Given the description of an element on the screen output the (x, y) to click on. 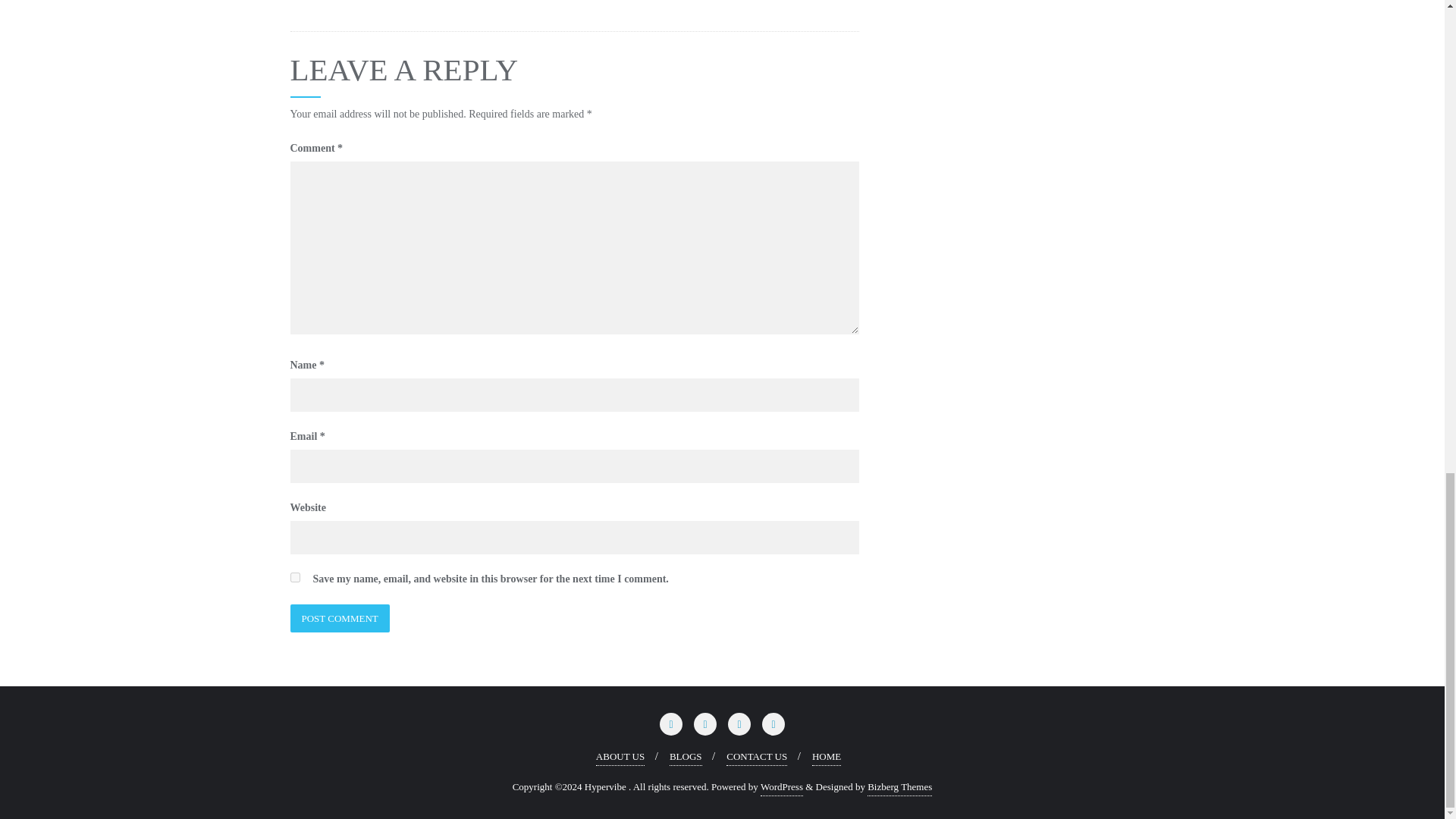
ABOUT US (620, 756)
Bizberg Themes (899, 787)
Post Comment (338, 618)
Post Comment (338, 618)
yes (294, 577)
BLOGS (685, 756)
CONTACT US (756, 756)
WordPress (781, 787)
HOME (826, 756)
